Given the description of an element on the screen output the (x, y) to click on. 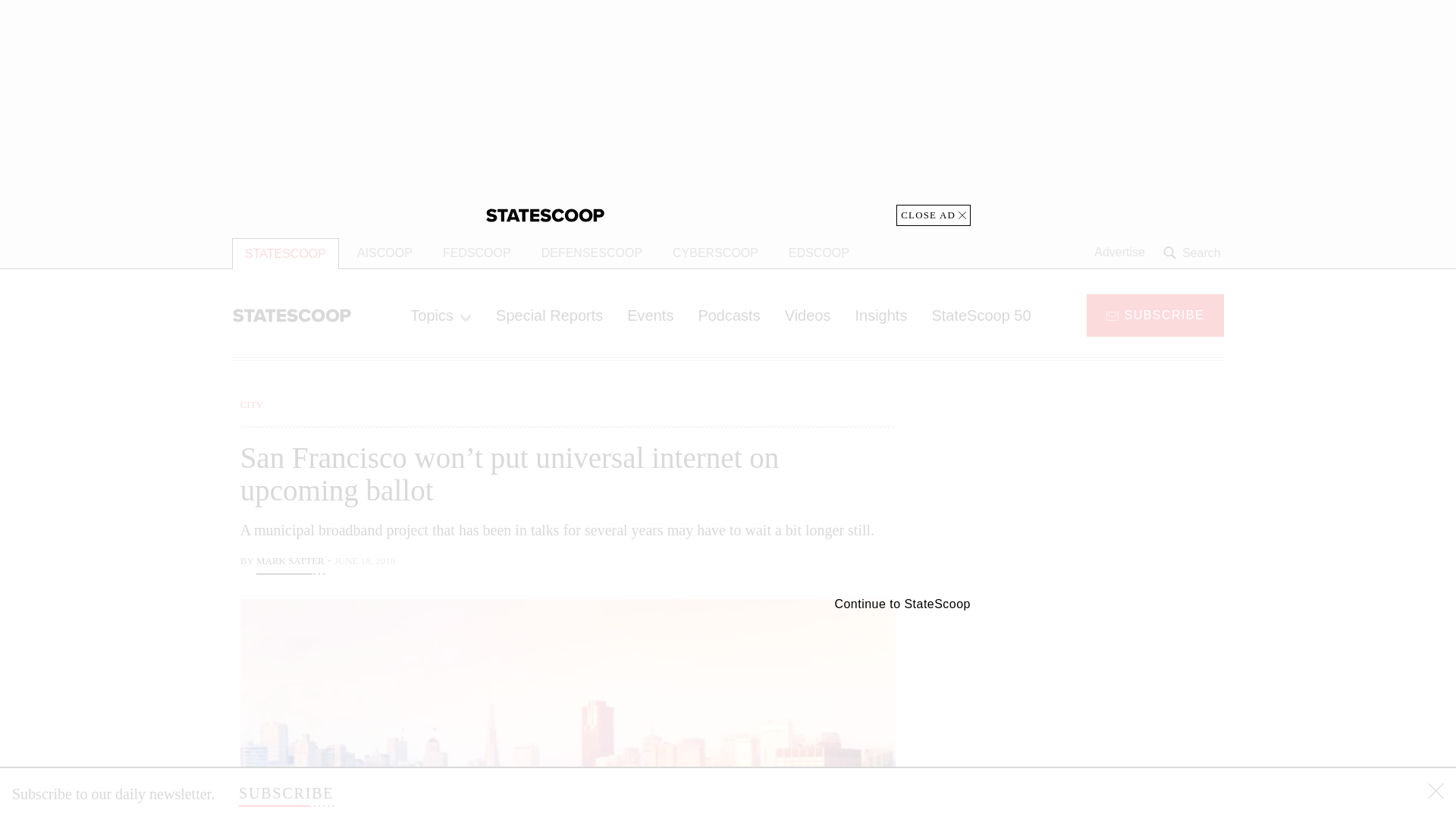
AISCOOP (385, 253)
Videos (808, 315)
Advertise (1119, 252)
FEDSCOOP (476, 253)
Podcasts (728, 315)
Insights (880, 315)
STATESCOOP (285, 253)
3rd party ad content (1101, 714)
SUBSCRIBE (285, 793)
Events (649, 315)
Topics (440, 315)
DEFENSESCOOP (591, 253)
StateScoop 50 (980, 315)
Search (1193, 252)
